Given the description of an element on the screen output the (x, y) to click on. 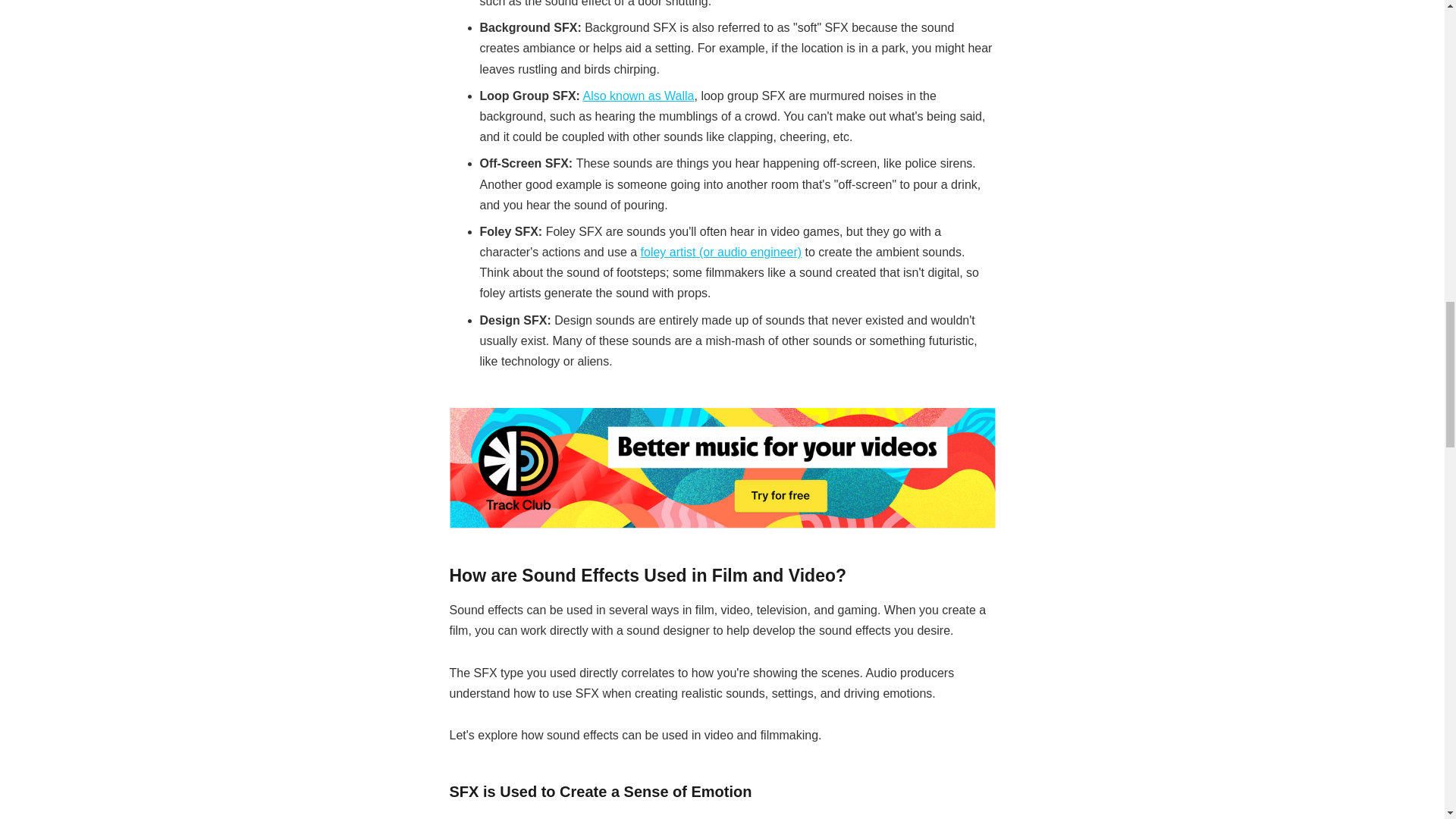
Also known as Walla (638, 95)
